Given the description of an element on the screen output the (x, y) to click on. 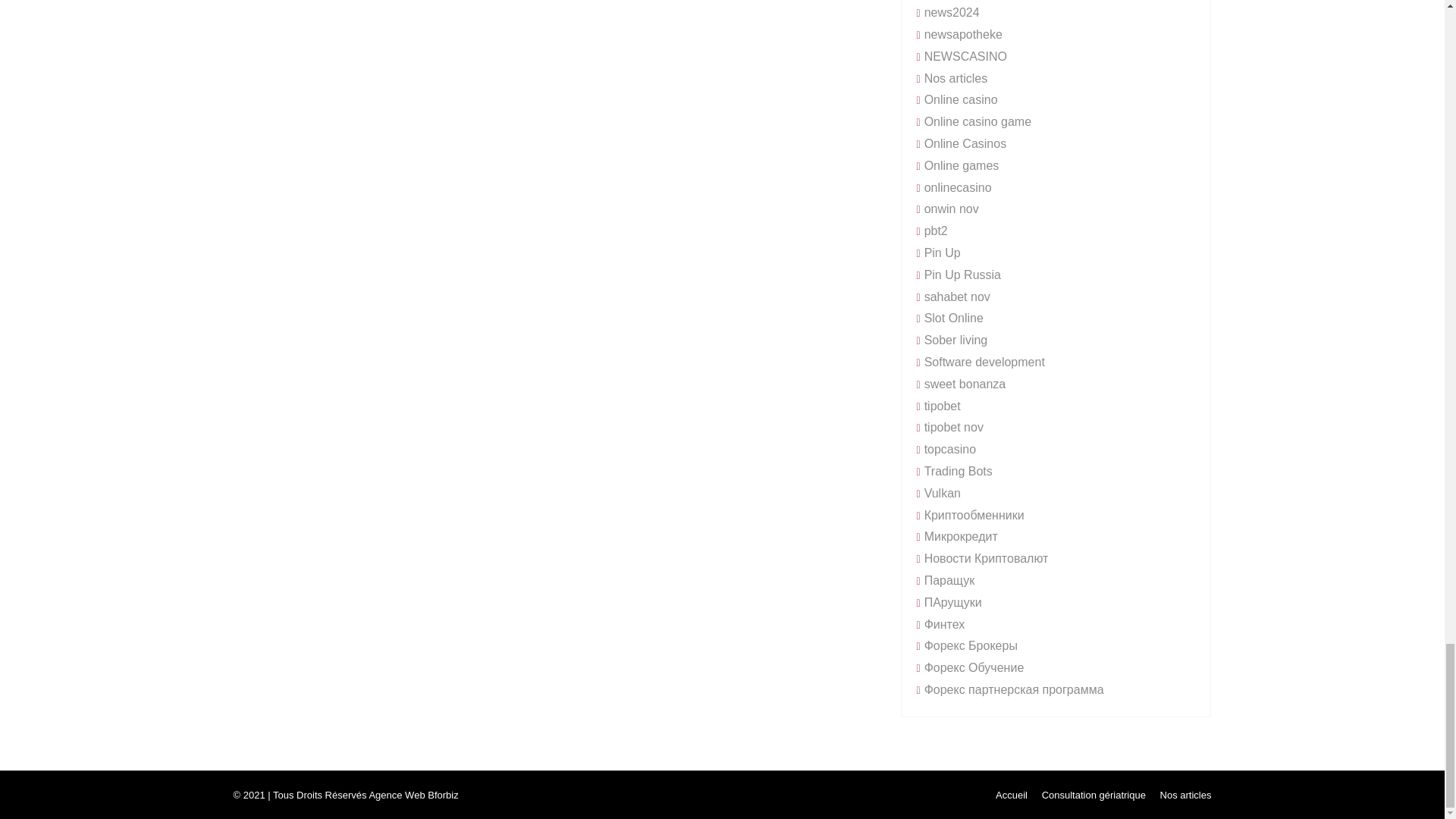
Accueil (1011, 794)
Nos articles (1185, 794)
